Given the description of an element on the screen output the (x, y) to click on. 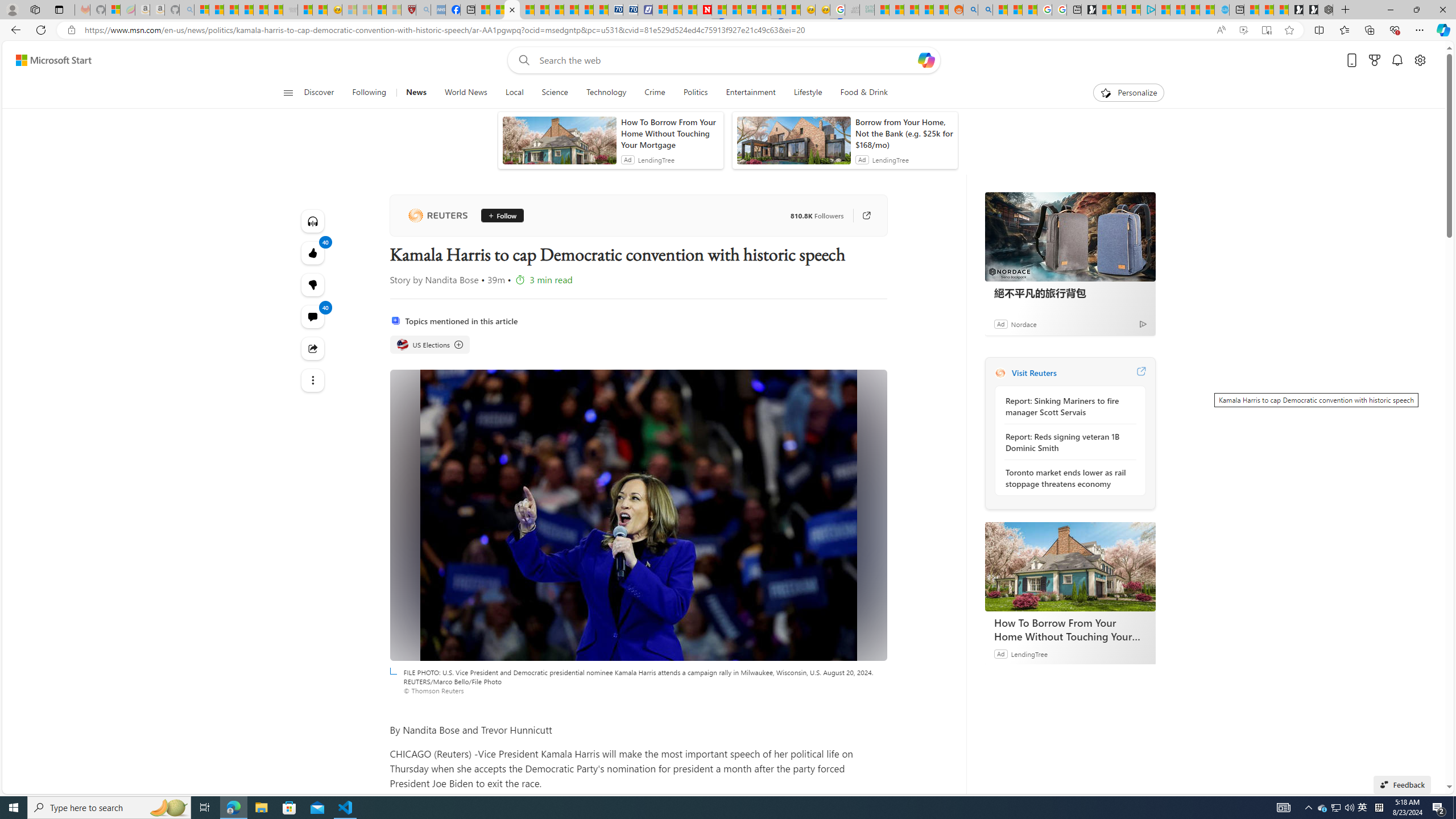
Listen to this article (312, 220)
The Weather Channel - MSN (230, 9)
Class: button-glyph (287, 92)
Go to publisher's site (860, 215)
How To Borrow From Your Home Without Touching Your Mortgage (1069, 628)
View comments 40 Comment (312, 316)
US Elections (430, 344)
Robert H. Shmerling, MD - Harvard Health (408, 9)
